Given the description of an element on the screen output the (x, y) to click on. 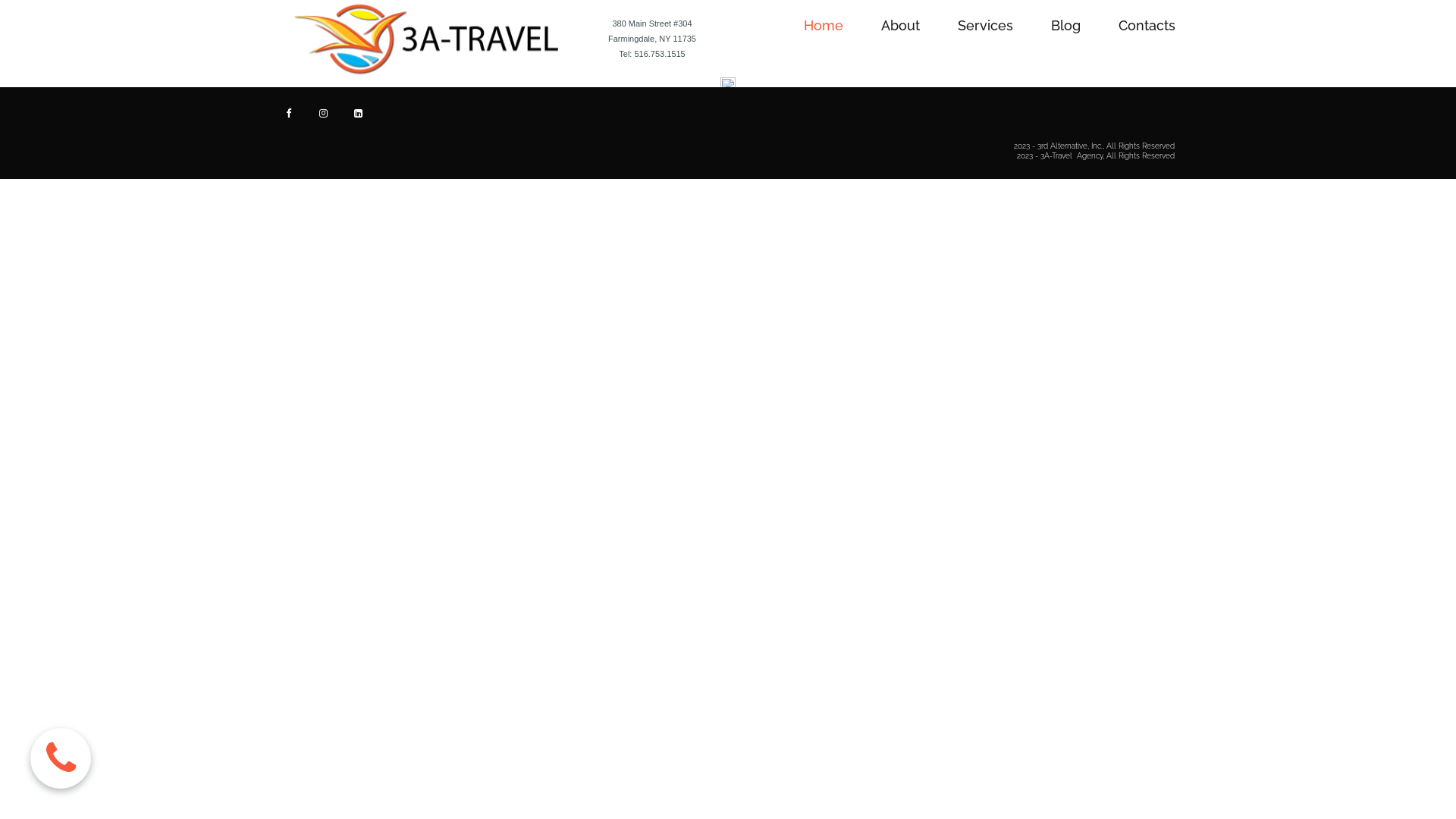
About Element type: text (900, 25)
Services Element type: text (985, 25)
Contacts Element type: text (1146, 25)
Home Element type: text (823, 25)
Blog Element type: text (1065, 25)
